Given the description of an element on the screen output the (x, y) to click on. 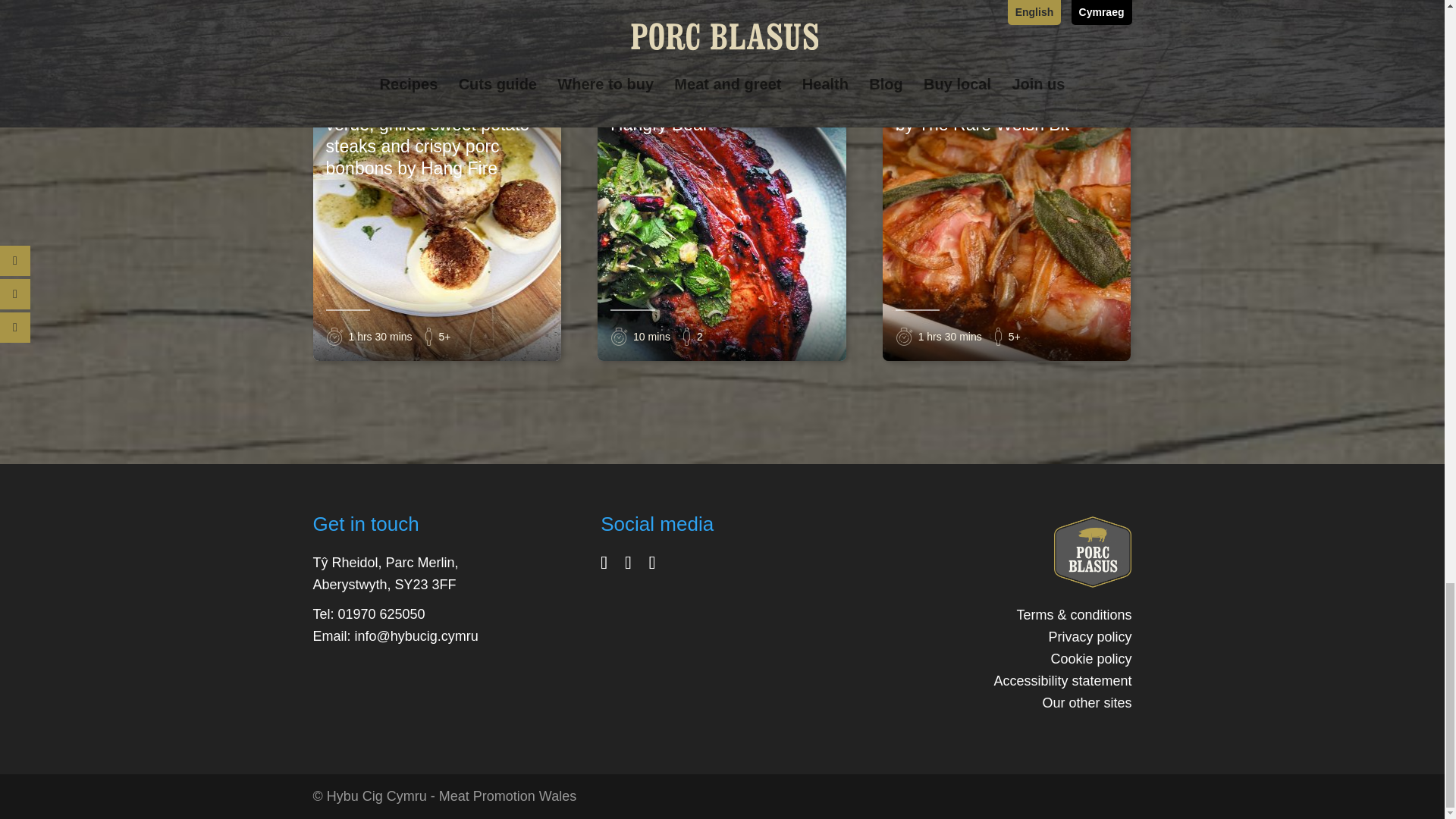
Accessibility statement (1061, 680)
Privacy policy (1089, 636)
Cookie policy (1090, 658)
Our other sites (1086, 702)
